Given the description of an element on the screen output the (x, y) to click on. 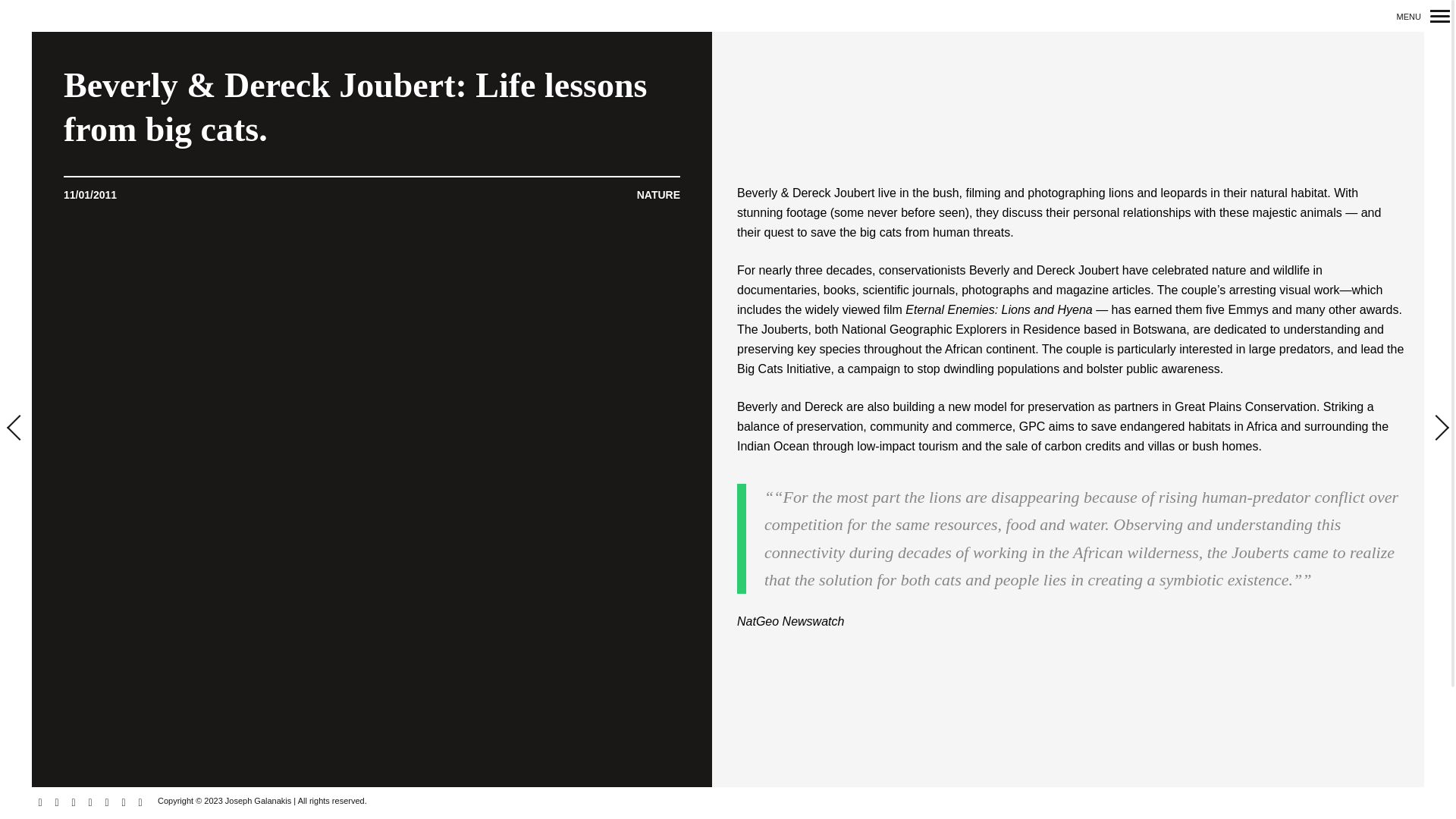
NATURE (658, 35)
View all posts in Nature (658, 35)
